Given the description of an element on the screen output the (x, y) to click on. 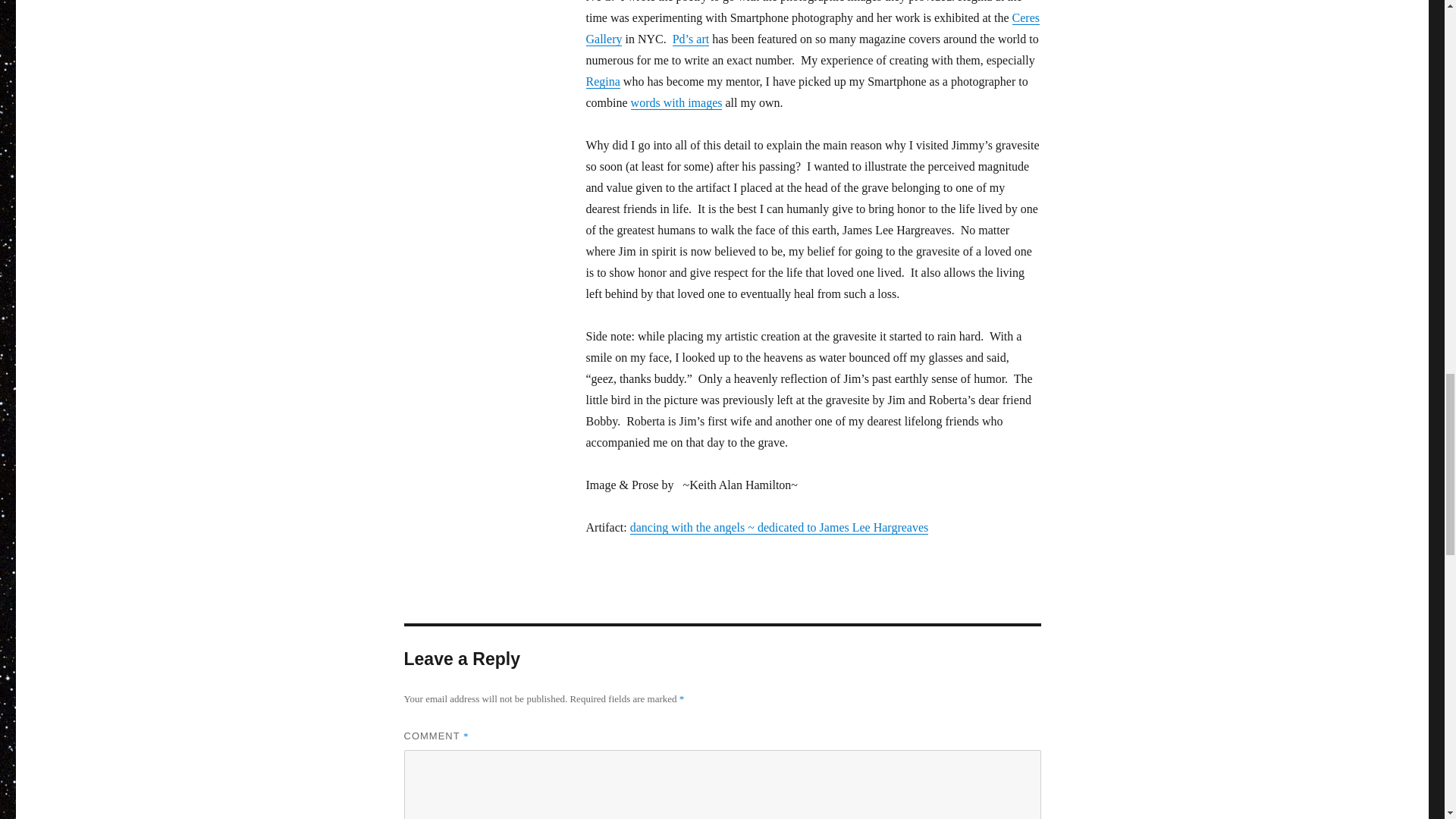
Regina (602, 81)
words with images (676, 102)
Ceres Gallery (812, 28)
